Given the description of an element on the screen output the (x, y) to click on. 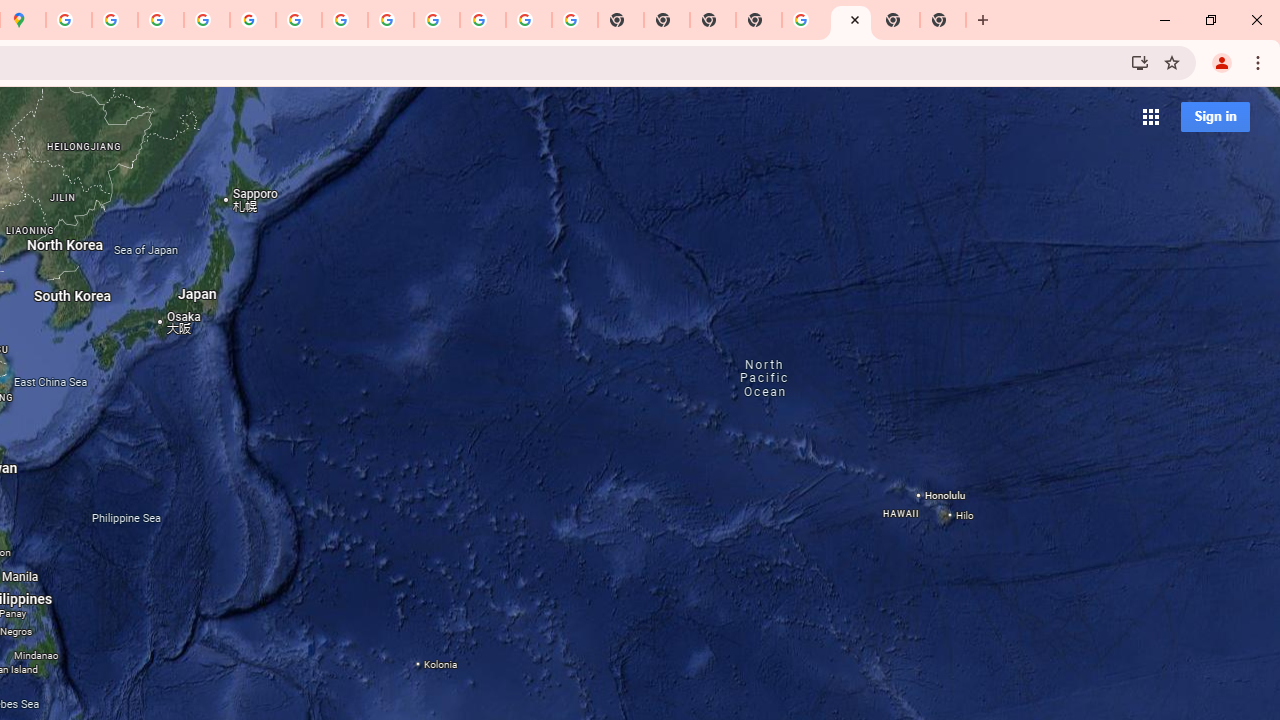
New Tab (897, 20)
YouTube (299, 20)
Use Google Maps in Space - Google Maps Help (805, 20)
Install Google Maps (1139, 62)
New Tab (759, 20)
Google Maps (851, 20)
